Given the description of an element on the screen output the (x, y) to click on. 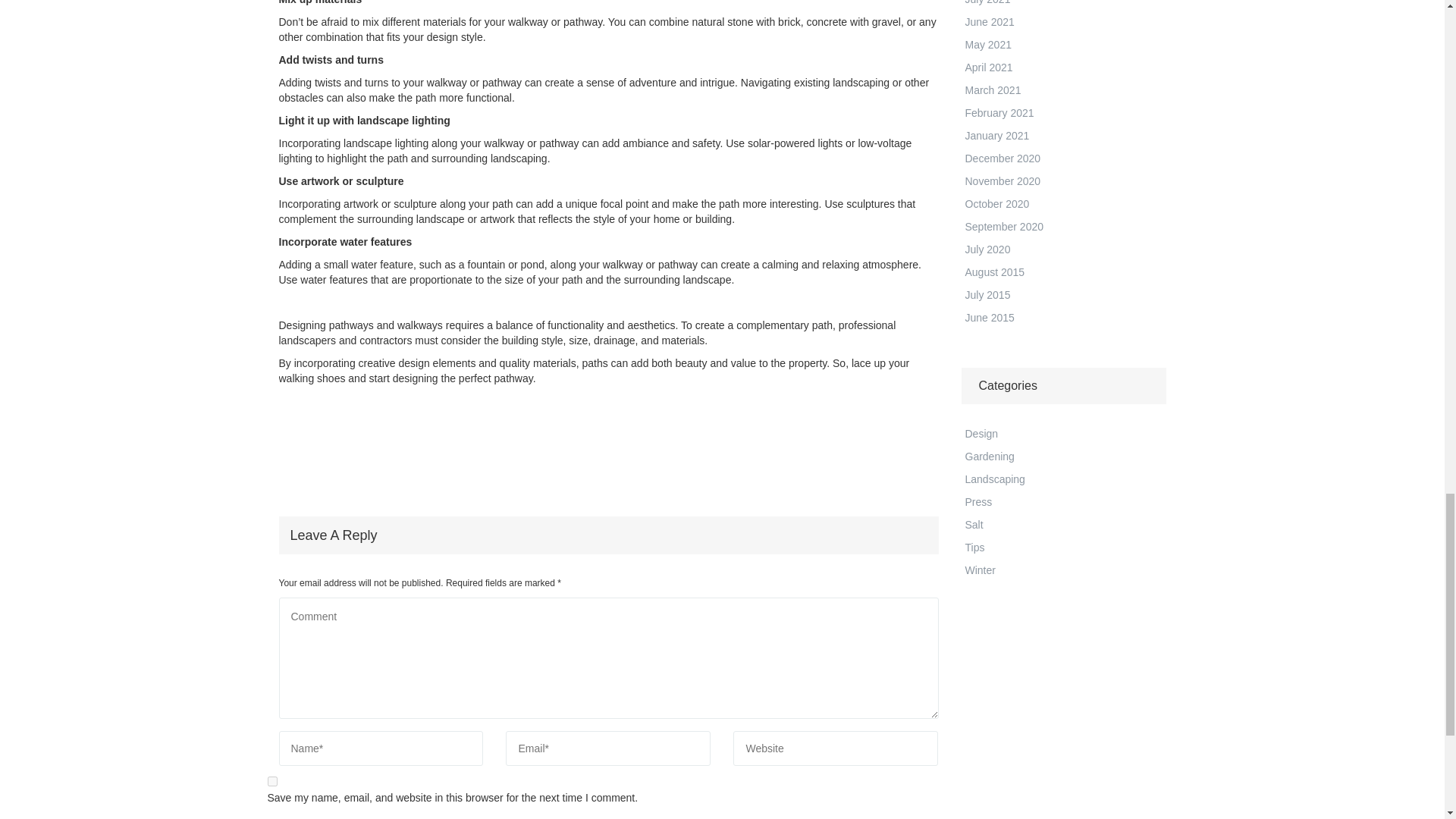
yes (271, 781)
